Given the description of an element on the screen output the (x, y) to click on. 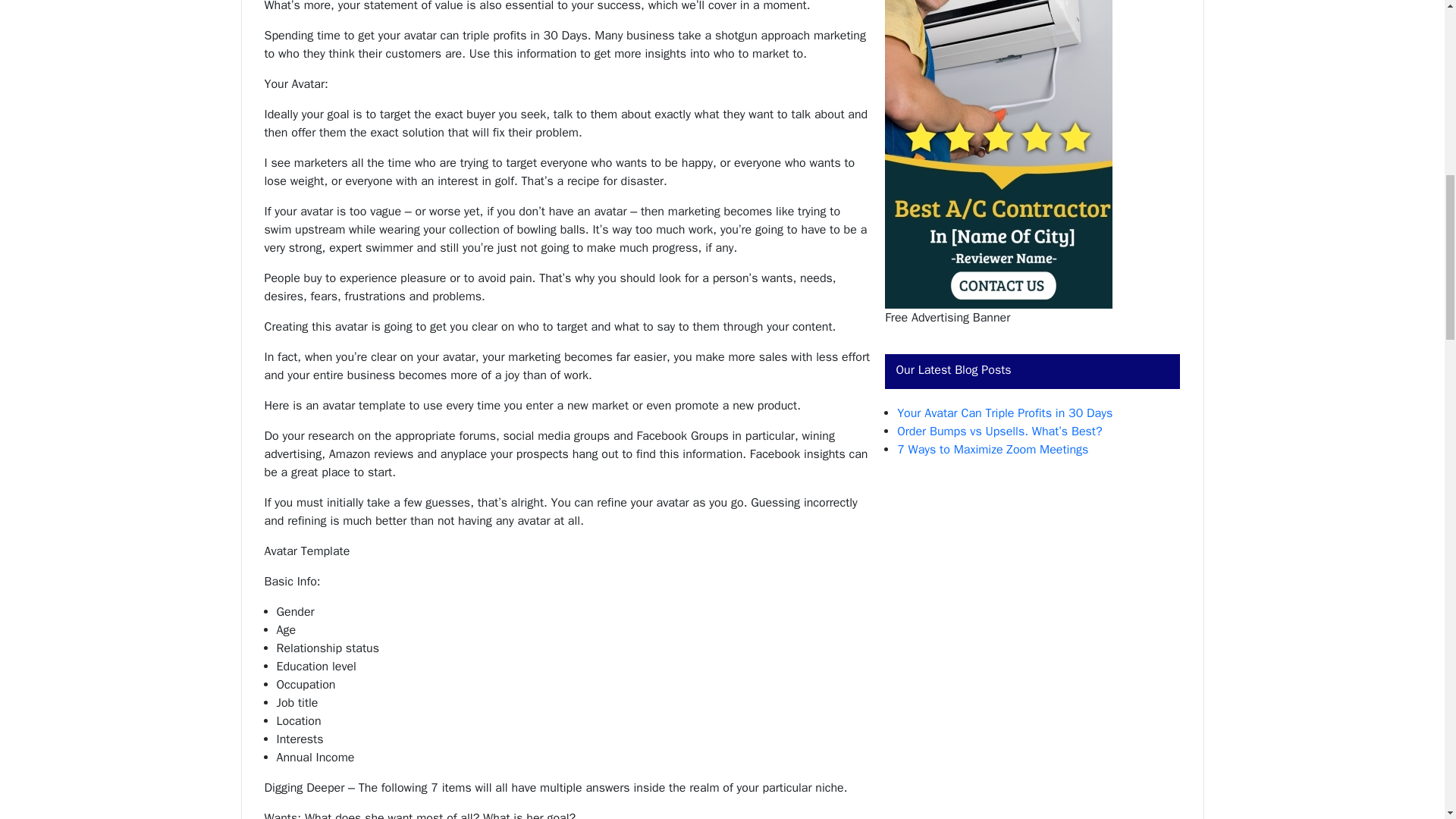
7 Ways to Maximize Zoom Meetings (991, 449)
Get Your Free Business Banner. Click The Image. (998, 154)
Your Avatar Can Triple Profits in 30 Days (1004, 412)
